Given the description of an element on the screen output the (x, y) to click on. 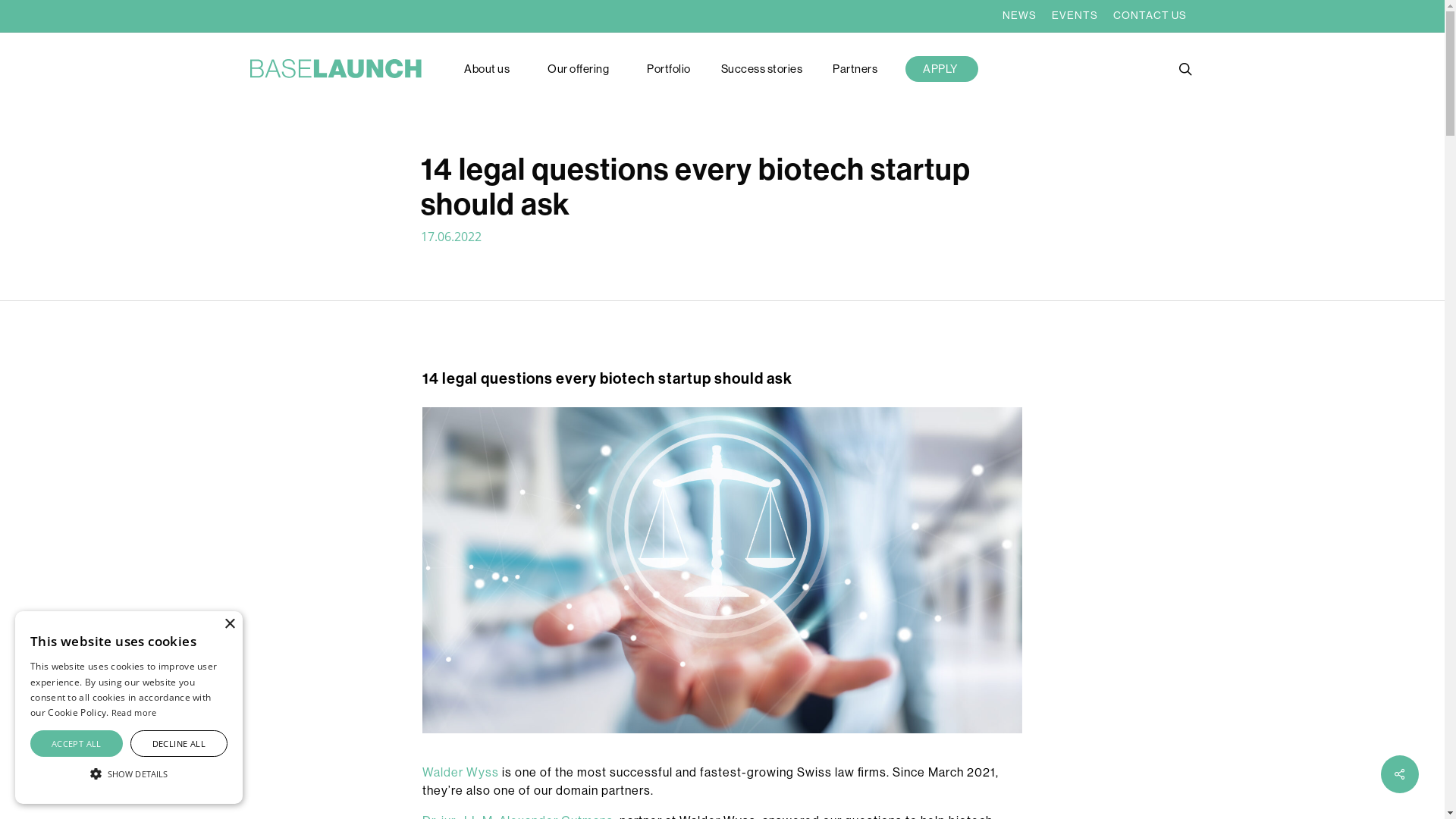
Read more Element type: text (133, 712)
Our offering Element type: text (581, 67)
Partners Element type: text (854, 67)
search Element type: text (1185, 67)
Success stories Element type: text (762, 67)
Portfolio Element type: text (668, 67)
EVENTS Element type: text (1074, 15)
Walder Wyss Element type: text (460, 771)
NEWS Element type: text (1019, 15)
About us Element type: text (490, 67)
APPLY Element type: text (943, 67)
CONTACT US Element type: text (1149, 15)
